Given the description of an element on the screen output the (x, y) to click on. 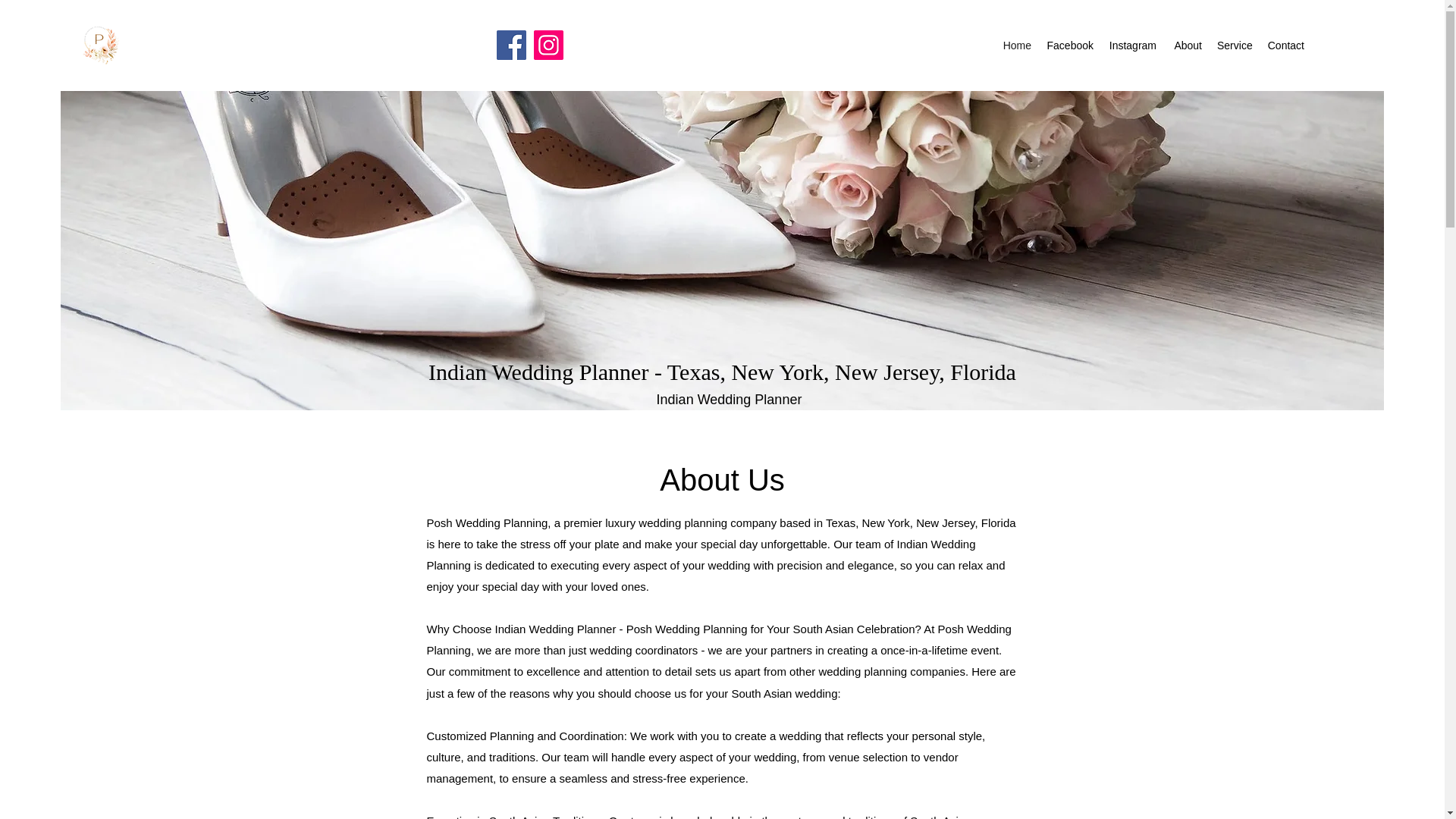
About (1186, 45)
Facebook (1069, 45)
Contact (1285, 45)
Home (1016, 45)
Service (1234, 45)
Instagram (1131, 45)
